Given the description of an element on the screen output the (x, y) to click on. 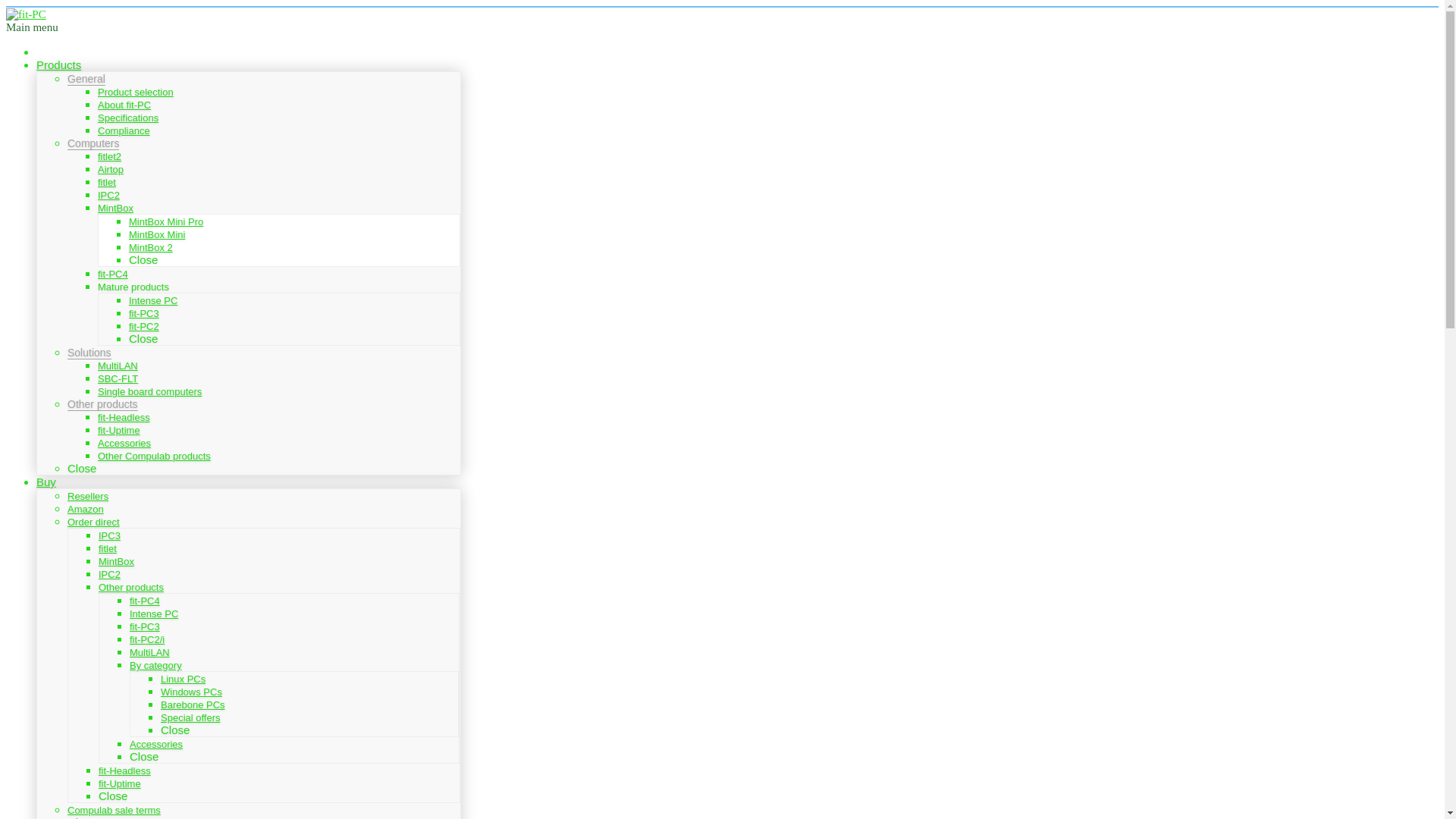
Intense PC (153, 613)
MintBox (115, 207)
IPC3 (109, 535)
fit-PC3 (143, 312)
Intense PC (153, 300)
Order direct (92, 521)
Airtop (110, 169)
Other Compulab products (154, 455)
MintBox Mini Pro (166, 221)
fit-PC4 (112, 274)
